Given the description of an element on the screen output the (x, y) to click on. 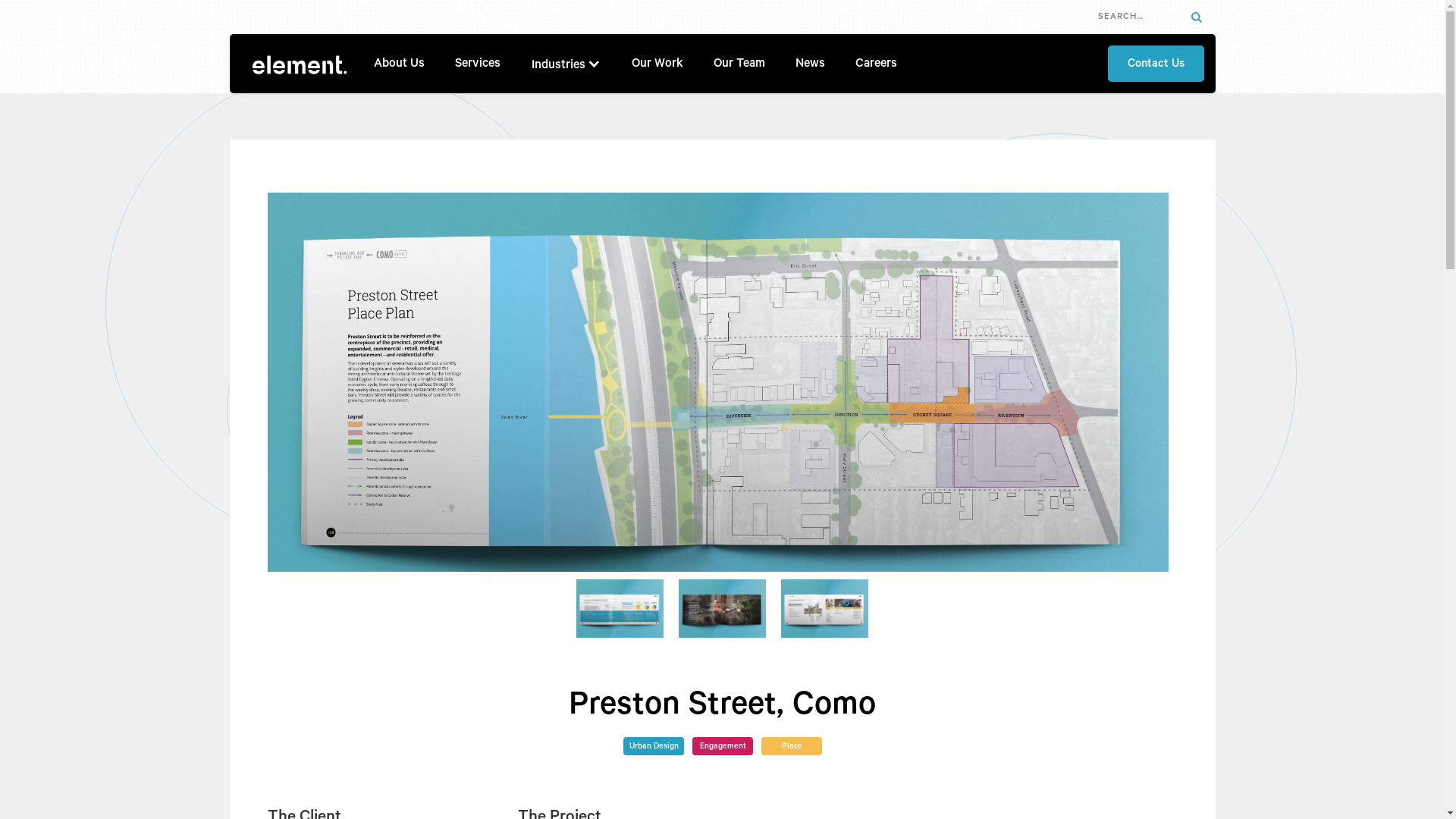
Industries Element type: text (557, 64)
Contact Us Element type: text (1155, 63)
Careers Element type: text (876, 63)
Our Work Element type: text (656, 63)
Services Element type: text (477, 63)
Our Team Element type: text (738, 63)
About Us Element type: text (398, 63)
News Element type: text (809, 63)
  Element type: text (1195, 17)
